Given the description of an element on the screen output the (x, y) to click on. 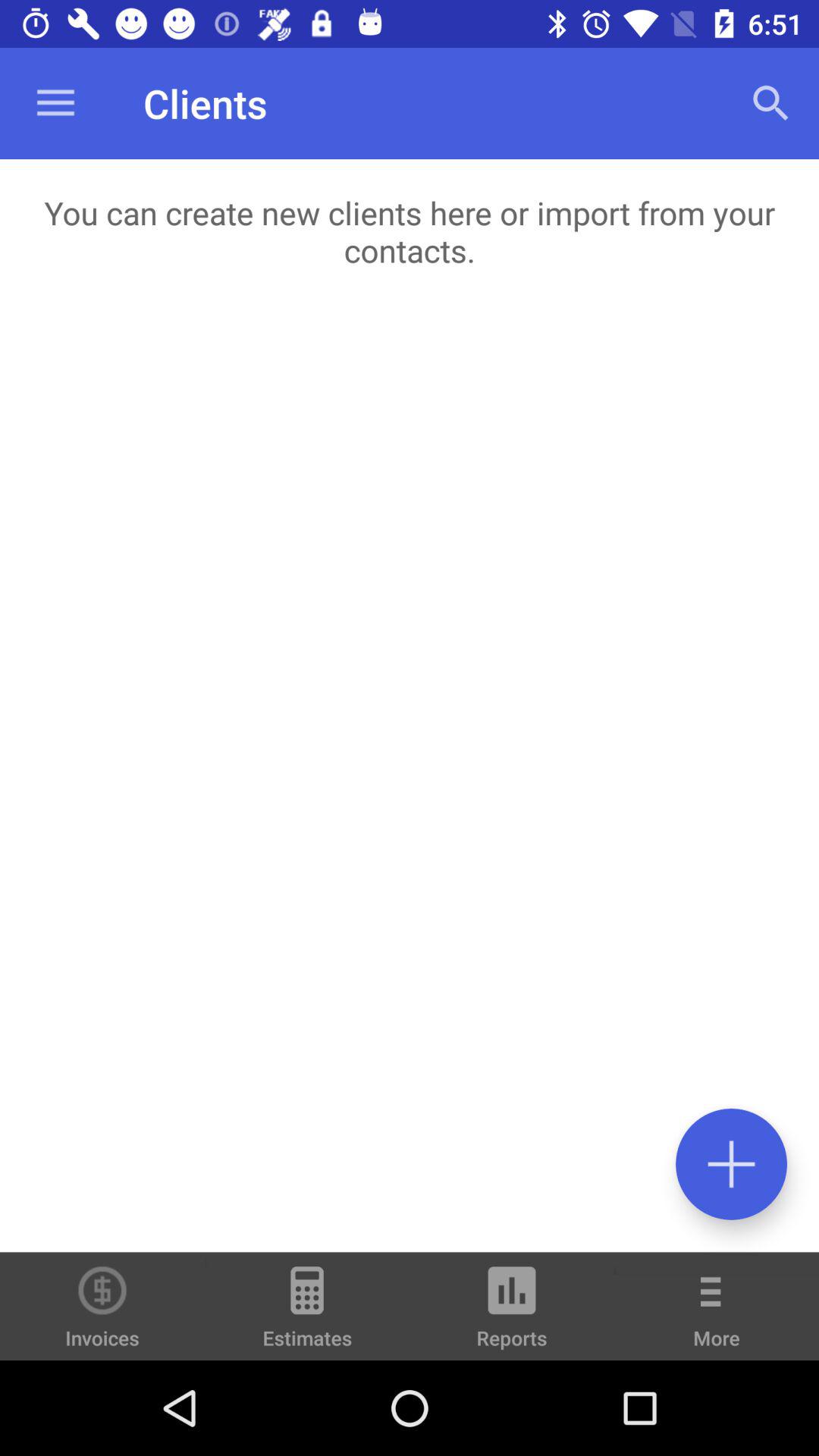
open new (731, 1163)
